Given the description of an element on the screen output the (x, y) to click on. 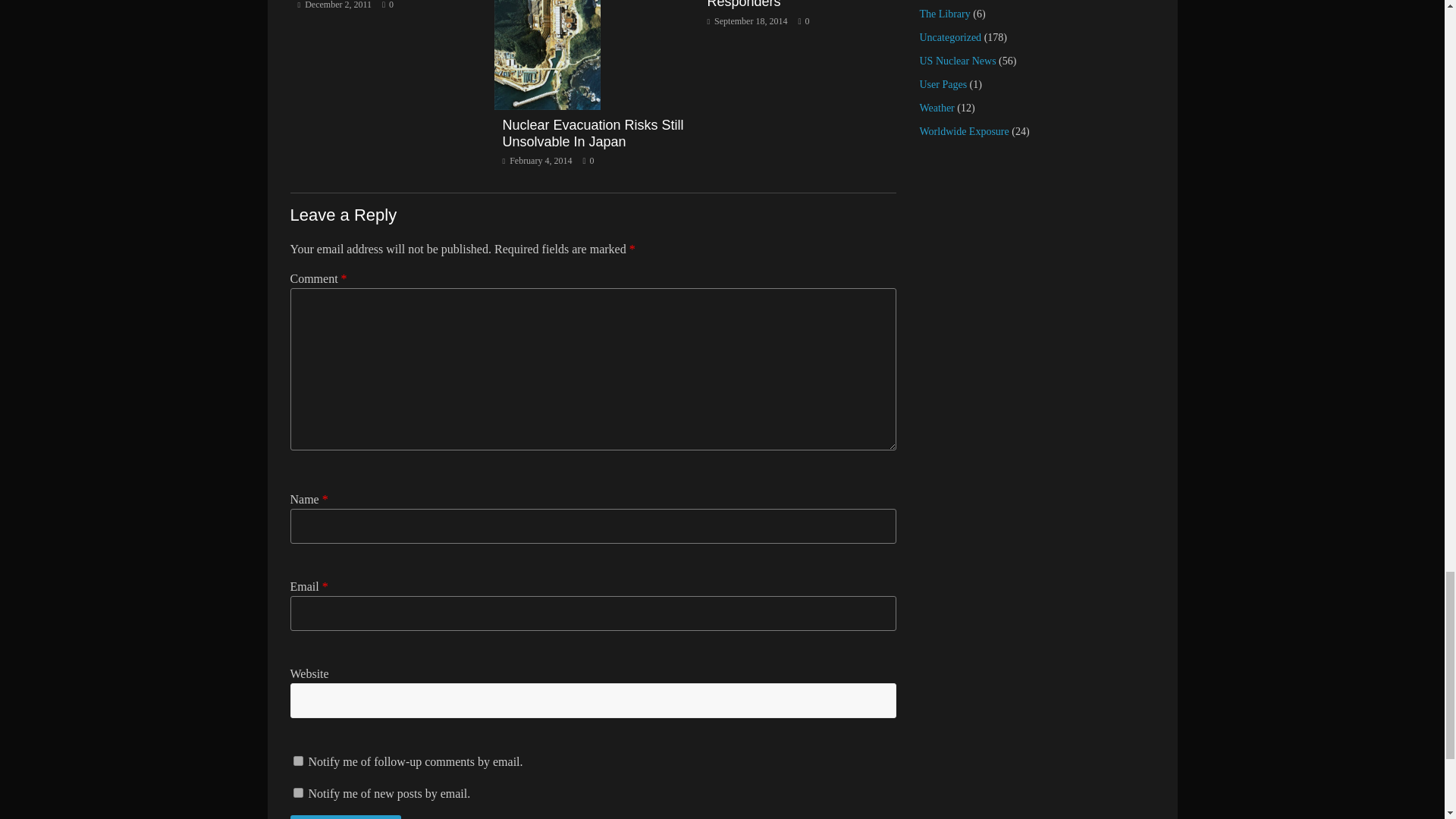
subscribe (297, 760)
Post Comment (345, 816)
subscribe (297, 792)
